Given the description of an element on the screen output the (x, y) to click on. 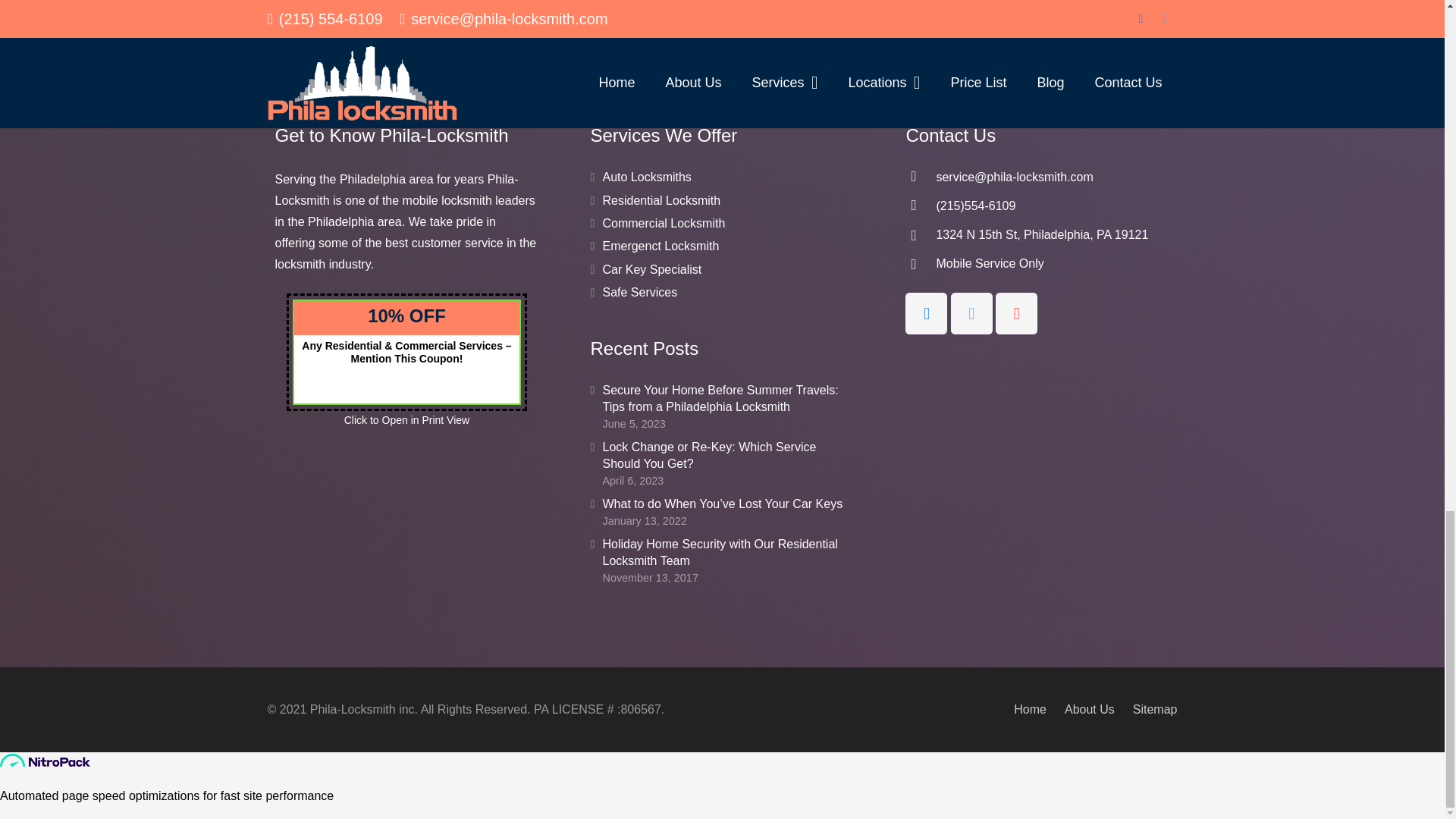
Google (1015, 313)
Facebook (926, 313)
Twitter (971, 313)
